Given the description of an element on the screen output the (x, y) to click on. 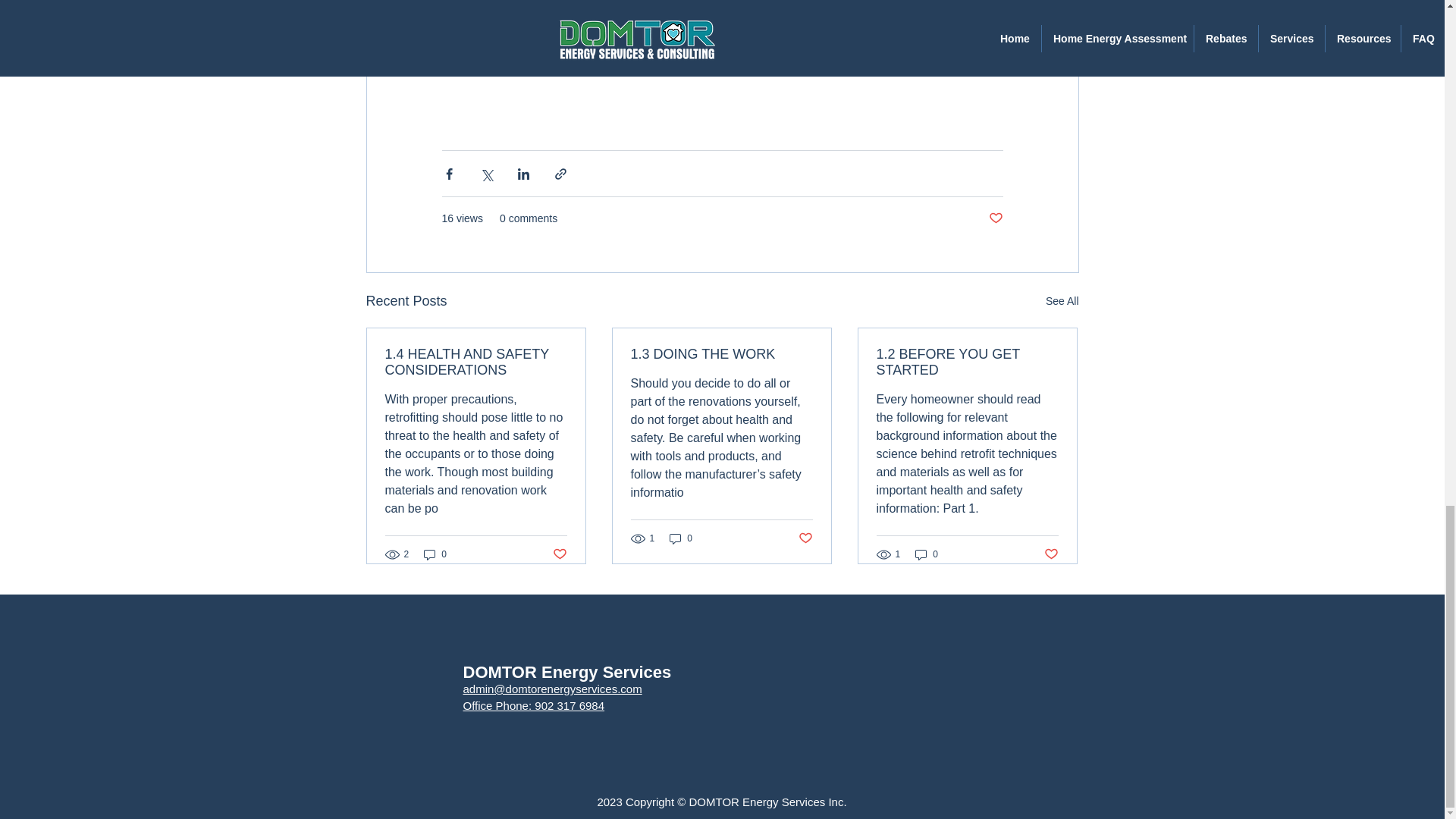
Post not marked as liked (804, 537)
0 (681, 538)
0 (435, 554)
Post not marked as liked (995, 218)
1.2 BEFORE YOU GET STARTED (967, 362)
1.3 DOING THE WORK (721, 354)
See All (1061, 301)
1.4 HEALTH AND SAFETY CONSIDERATIONS (476, 362)
Post not marked as liked (1050, 554)
0 (926, 554)
Post not marked as liked (558, 554)
Office Phone: 902 317 6984 (533, 705)
